Given the description of an element on the screen output the (x, y) to click on. 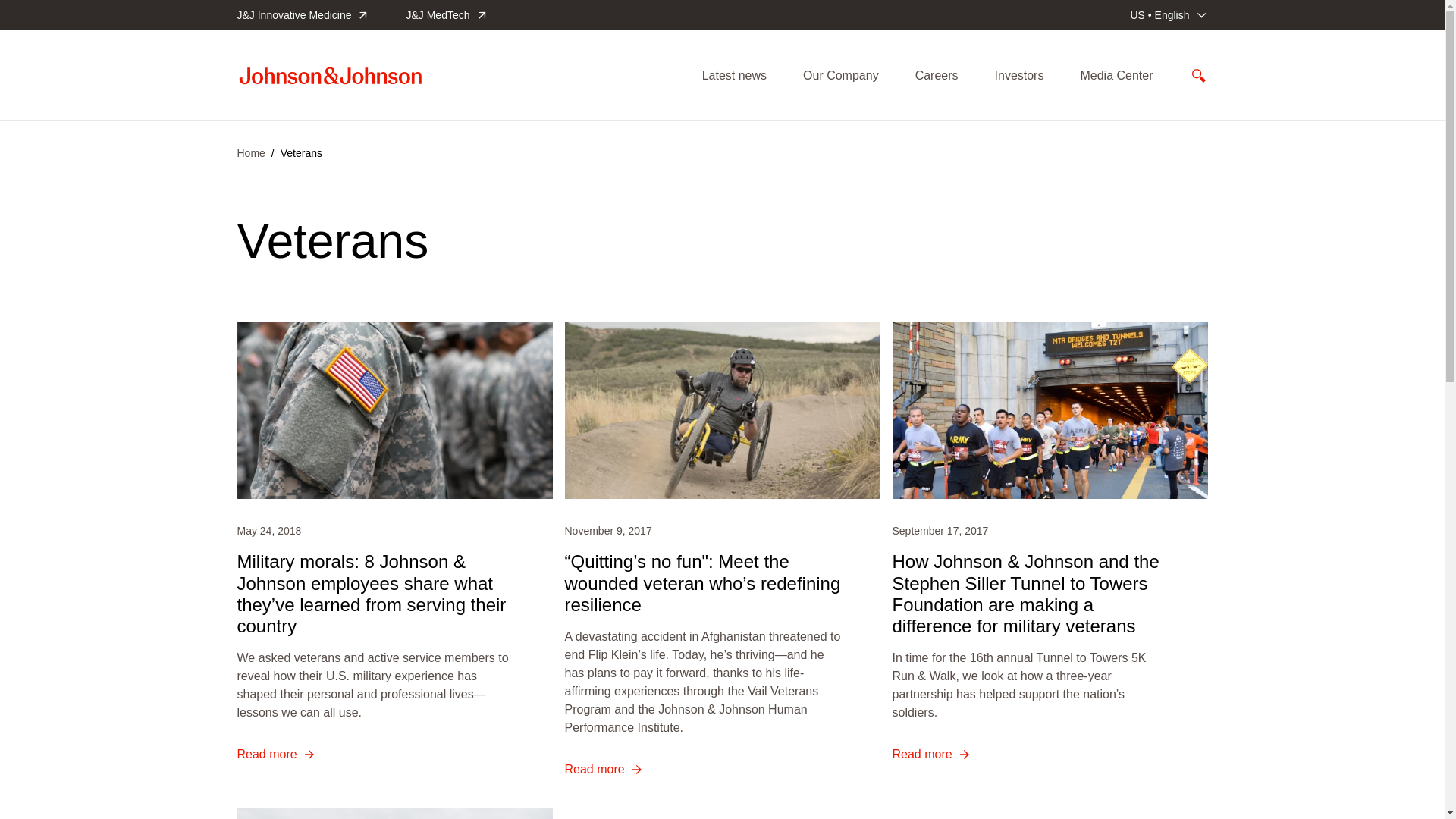
Latest news (734, 75)
Our Company (841, 75)
